Given the description of an element on the screen output the (x, y) to click on. 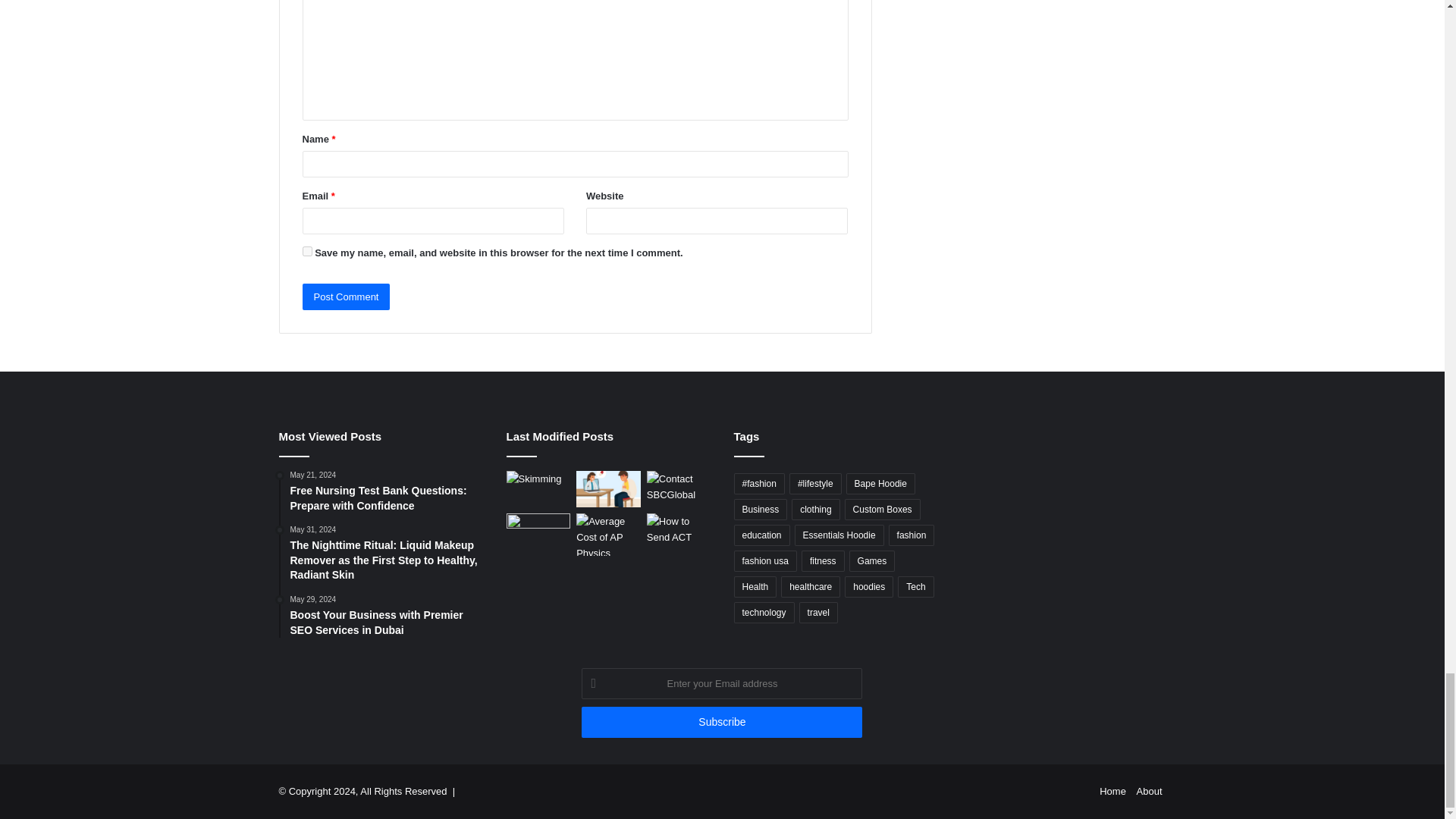
yes (306, 251)
Subscribe (720, 721)
Post Comment (345, 296)
